Given the description of an element on the screen output the (x, y) to click on. 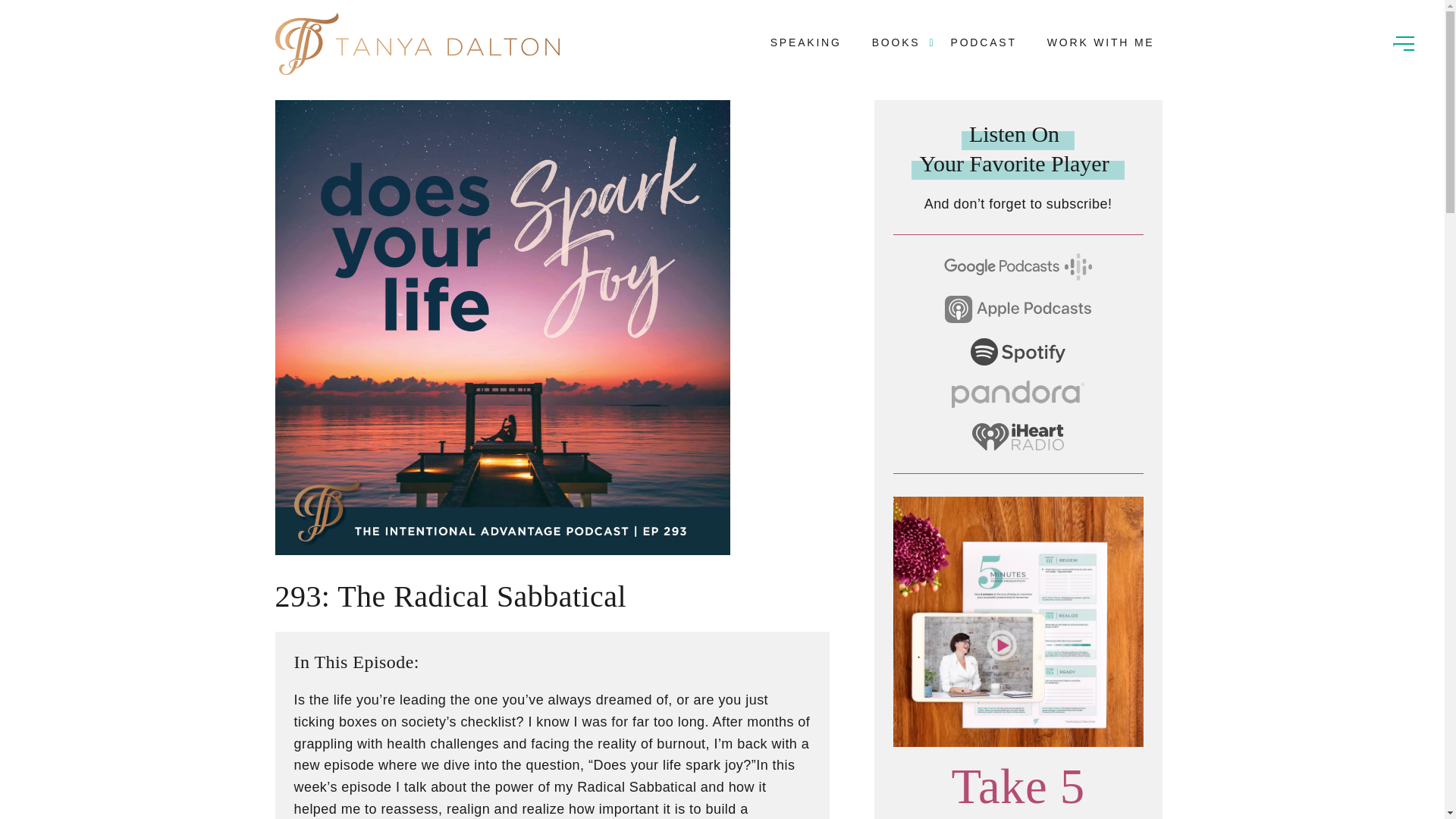
MENU (1403, 41)
SKIP TO THE CONTENT (72, 14)
BOOKS (896, 42)
PODCAST (983, 42)
SPEAKING (805, 42)
WORK WITH ME (1100, 42)
